Given the description of an element on the screen output the (x, y) to click on. 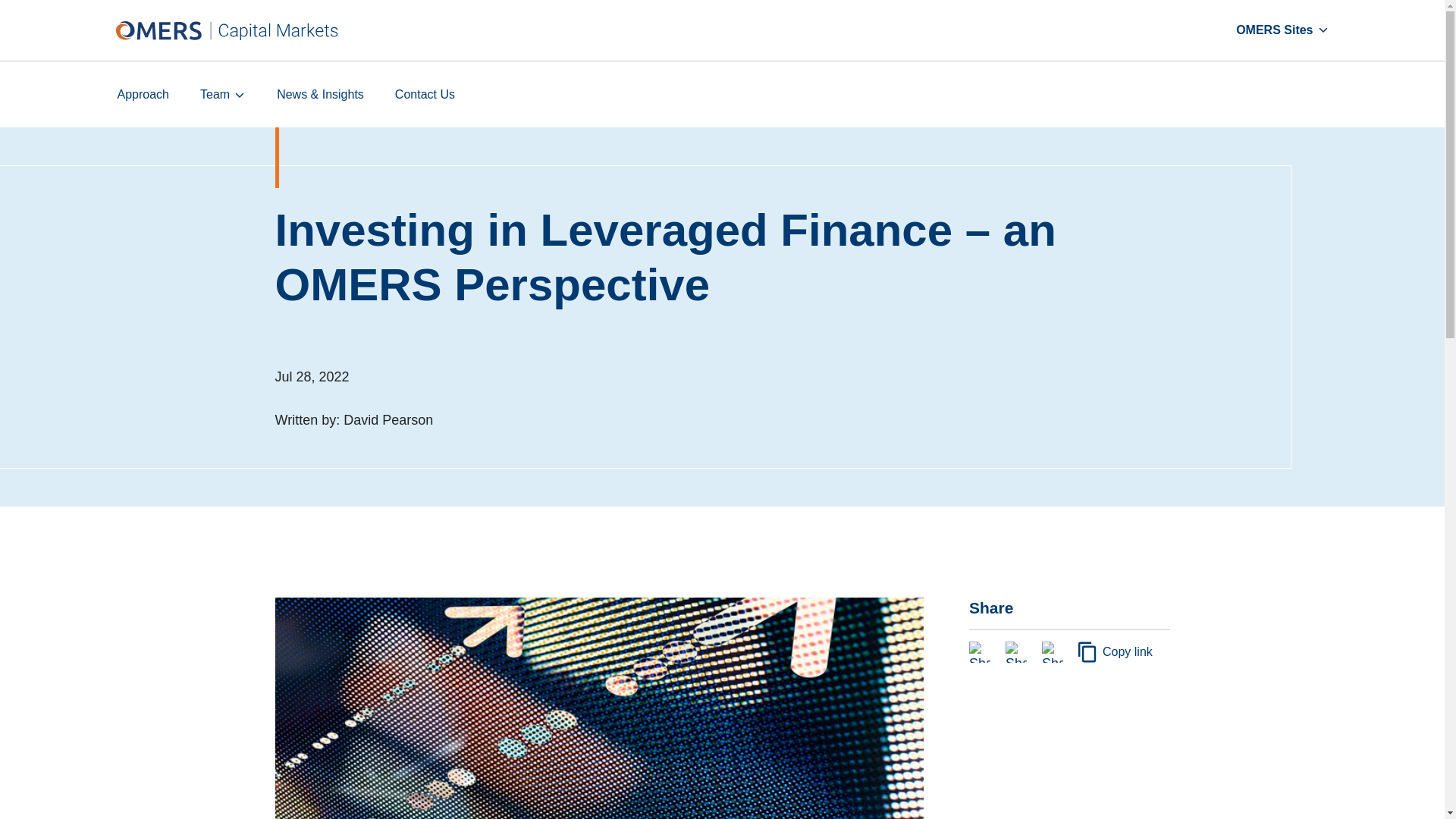
Contact Us (425, 94)
Copy link (1115, 651)
Approach (142, 94)
